Given the description of an element on the screen output the (x, y) to click on. 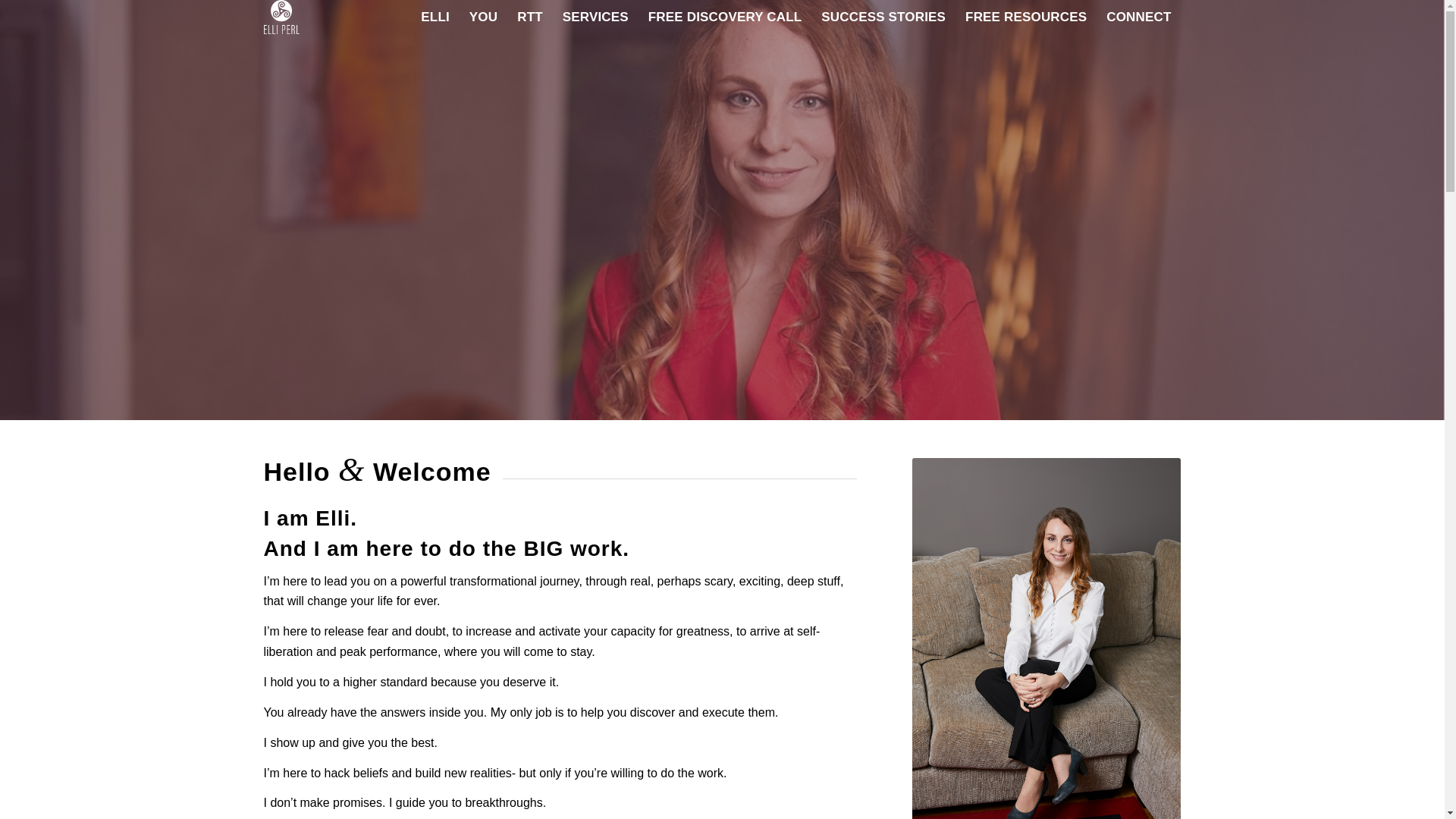
FREE RESOURCES (1025, 17)
CONNECT (1138, 17)
ELLI (435, 17)
SUCCESS STORIES (882, 17)
YOU (483, 17)
SERVICES (596, 17)
RTT (529, 17)
FREE DISCOVERY CALL (725, 17)
